Given the description of an element on the screen output the (x, y) to click on. 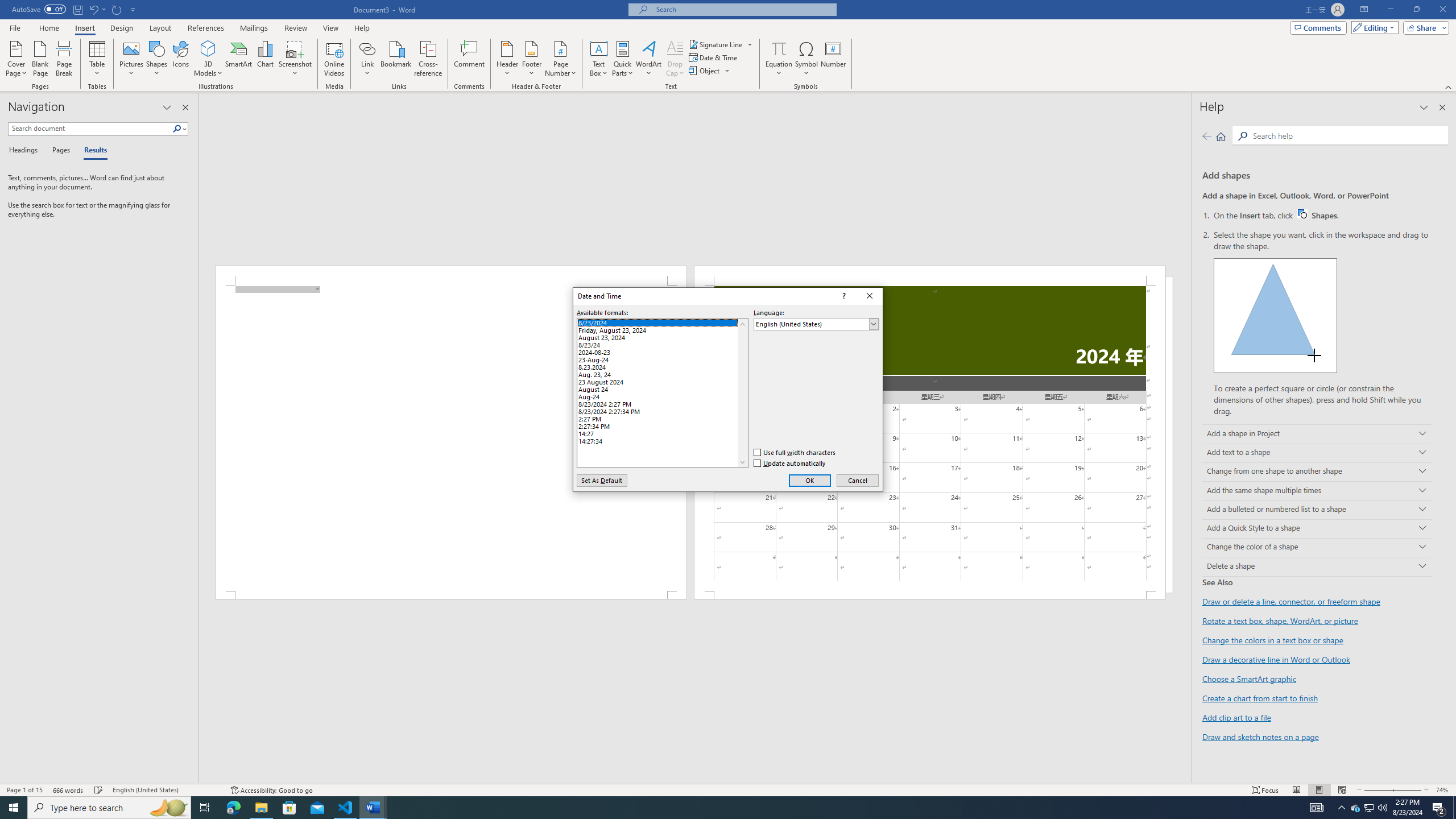
Header (507, 58)
Footer -Section 1- (930, 595)
8/23/24 (662, 343)
23 August 2024 (1368, 807)
Accessibility Checker Accessibility: Good to go (662, 380)
Microsoft Store (271, 790)
Online Videos... (289, 807)
Drop Cap (333, 58)
